Given the description of an element on the screen output the (x, y) to click on. 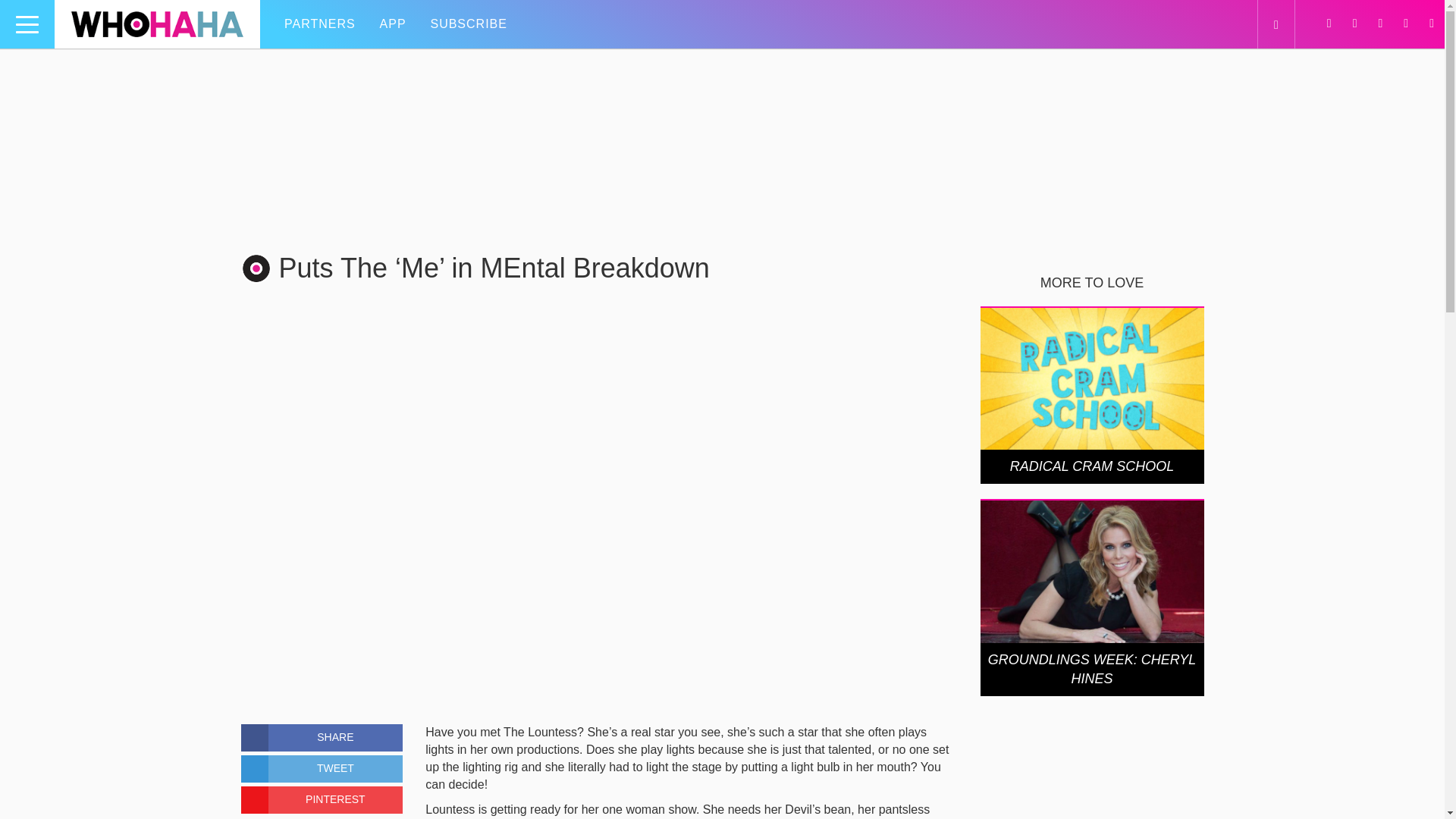
SHARE (322, 737)
TWEET (322, 768)
APP (392, 24)
RADICAL CRAM SCHOOL (1092, 466)
WHOHAHA (156, 23)
SUBSCRIBE (467, 24)
Toggle navigation (27, 24)
GROUNDLINGS WEEK: CHERYL HINES (1091, 668)
PARTNERS (319, 24)
PINTEREST (322, 800)
